Given the description of an element on the screen output the (x, y) to click on. 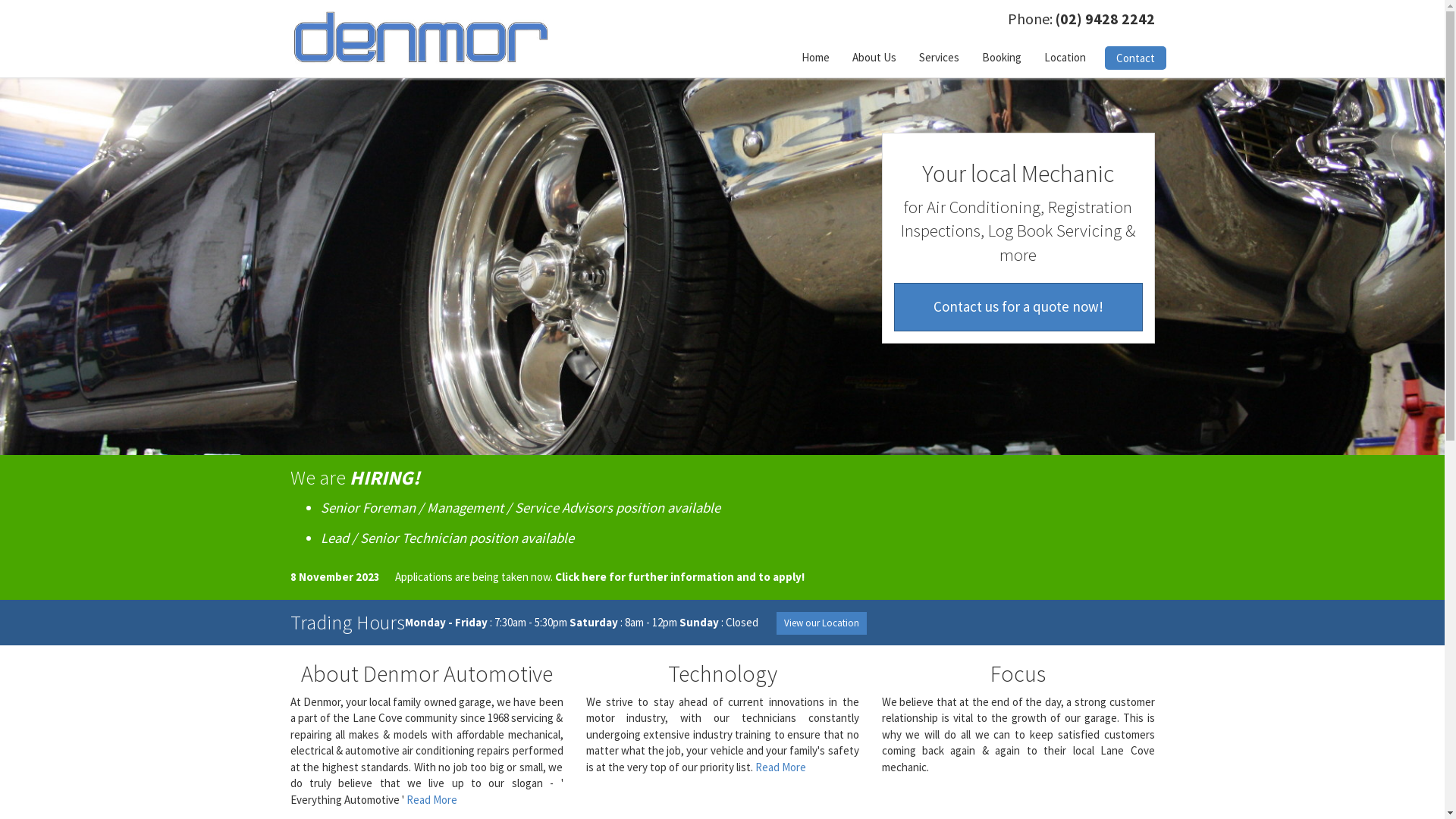
New Car Servicing Element type: text (833, 736)
Street View Element type: text (1018, 741)
Registrations Element type: text (833, 711)
Location Element type: text (1064, 57)
Location Element type: text (611, 711)
Home Element type: text (815, 57)
Technology Element type: text (721, 672)
Read More Element type: text (431, 799)
Map Element type: text (971, 741)
Denmor Element type: hover (420, 36)
About Denmor Automotive Element type: text (426, 672)
Contact Element type: text (611, 736)
About Us Element type: text (873, 57)
Contact us for a quote now! Element type: text (1017, 306)
info@denmor.com.au Element type: text (1040, 700)
Booking Element type: text (1001, 57)
Privacy Policy Element type: text (324, 786)
About Element type: text (611, 685)
Read More Element type: text (780, 766)
Robert Dunn Web Design Element type: text (412, 762)
Services Element type: text (611, 761)
Contact Element type: text (1134, 57)
View our Location Element type: text (820, 623)
Services Element type: text (937, 57)
Knowledgebase Element type: text (833, 685)
